Given the description of an element on the screen output the (x, y) to click on. 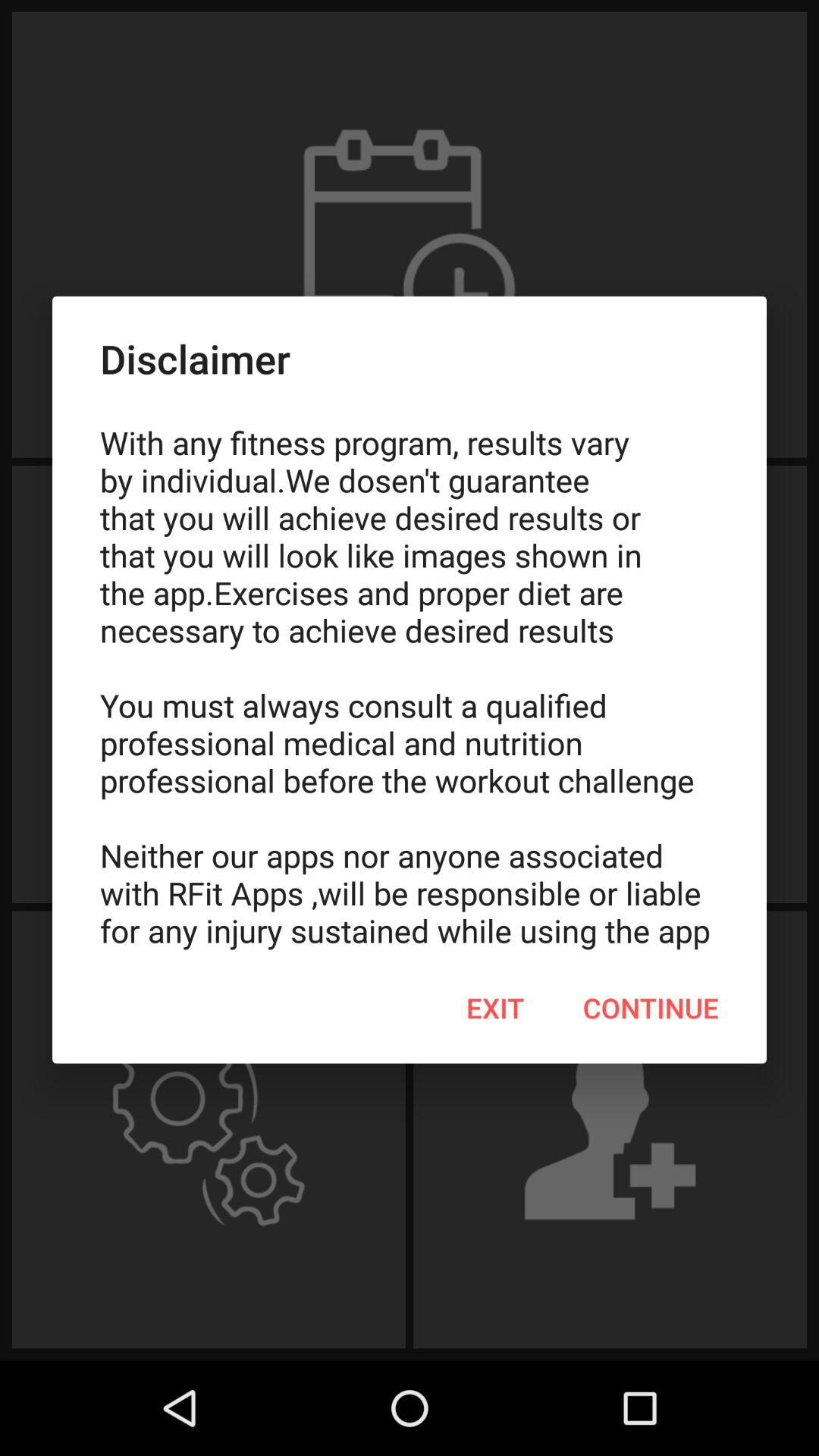
turn off the icon to the left of the continue icon (495, 1007)
